Given the description of an element on the screen output the (x, y) to click on. 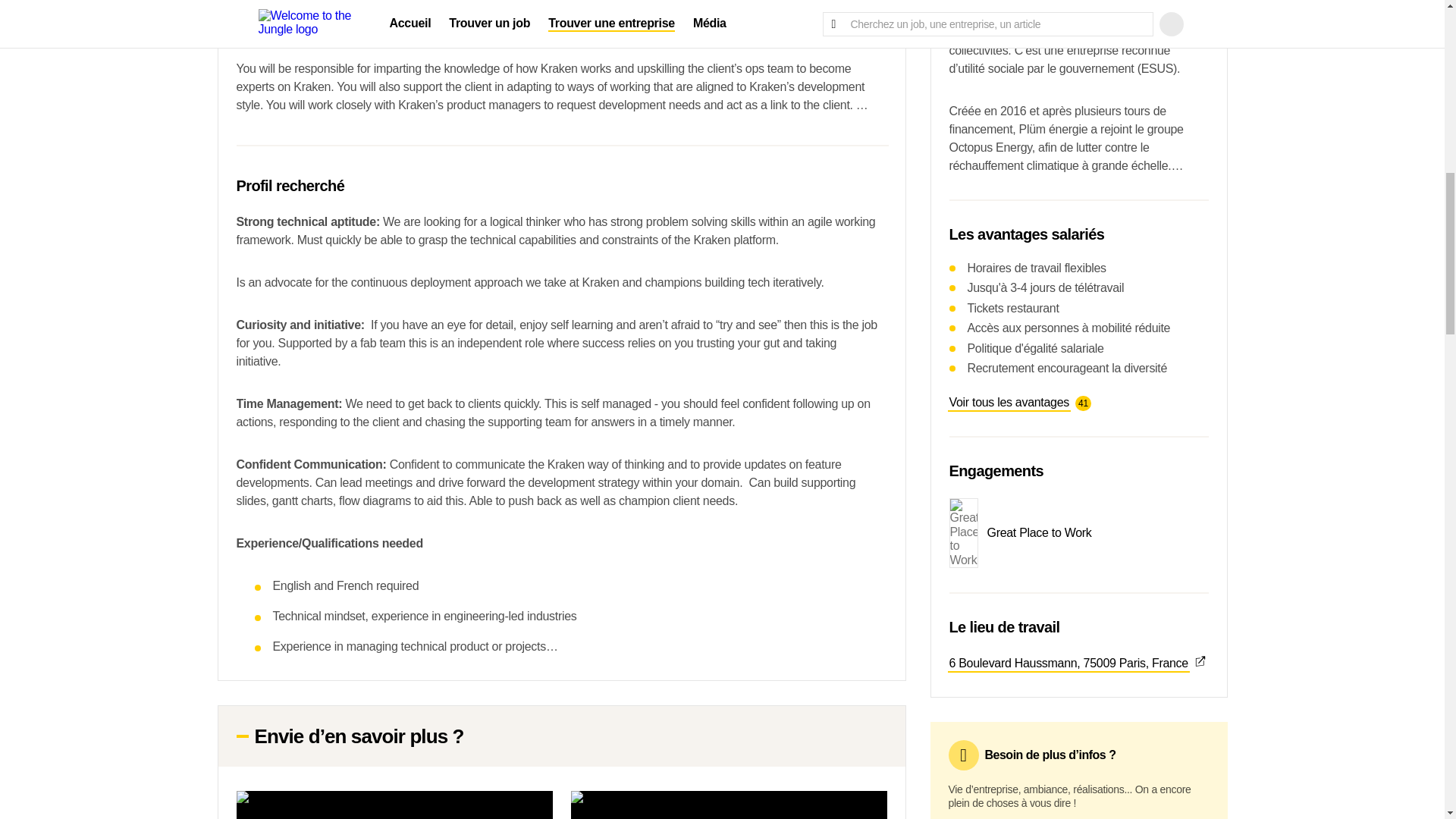
Voir tous les avantages (1008, 402)
6 Boulevard Haussmann, 75009 Paris, France (1078, 663)
